Given the description of an element on the screen output the (x, y) to click on. 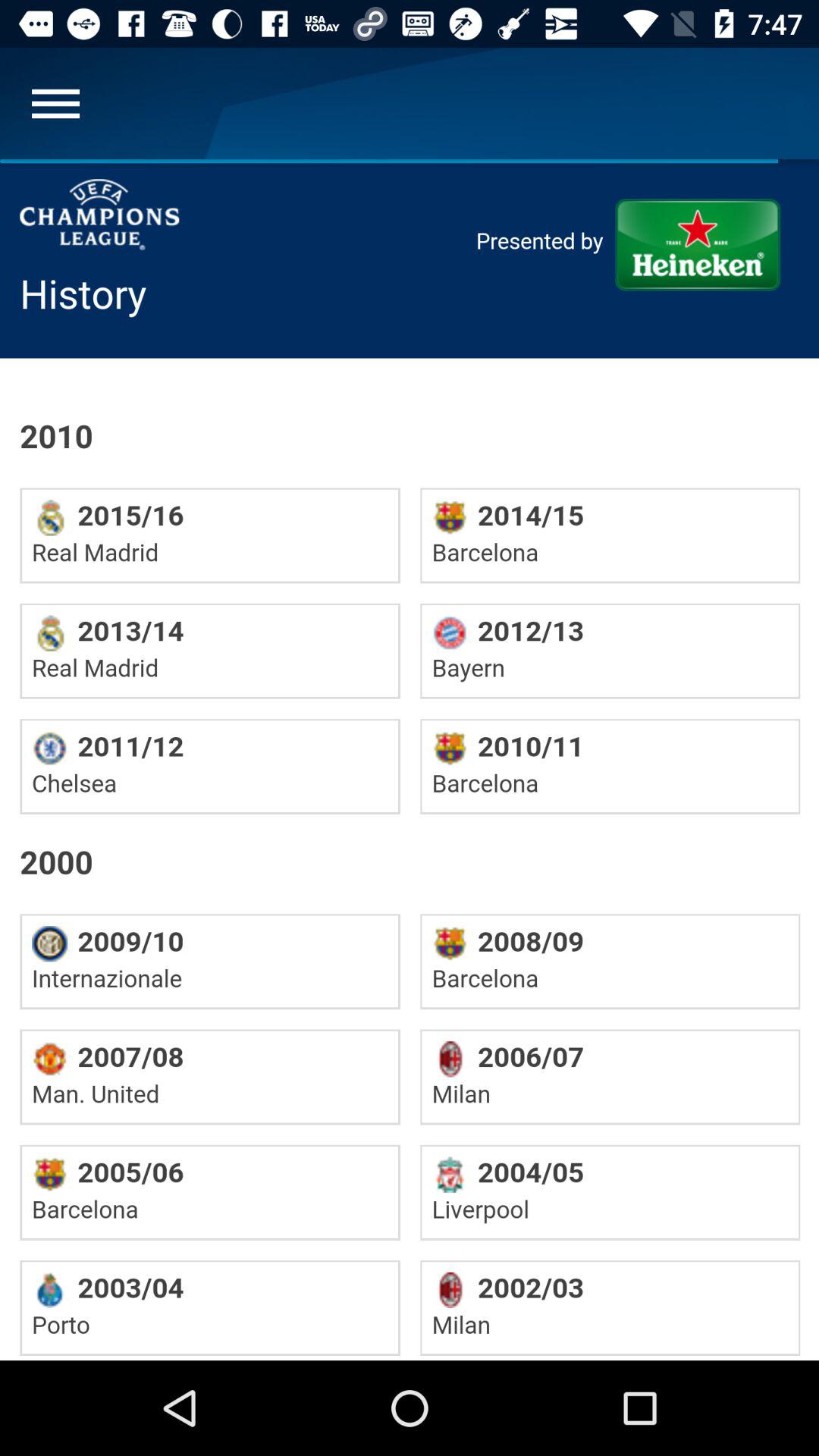
menu page (55, 103)
